Given the description of an element on the screen output the (x, y) to click on. 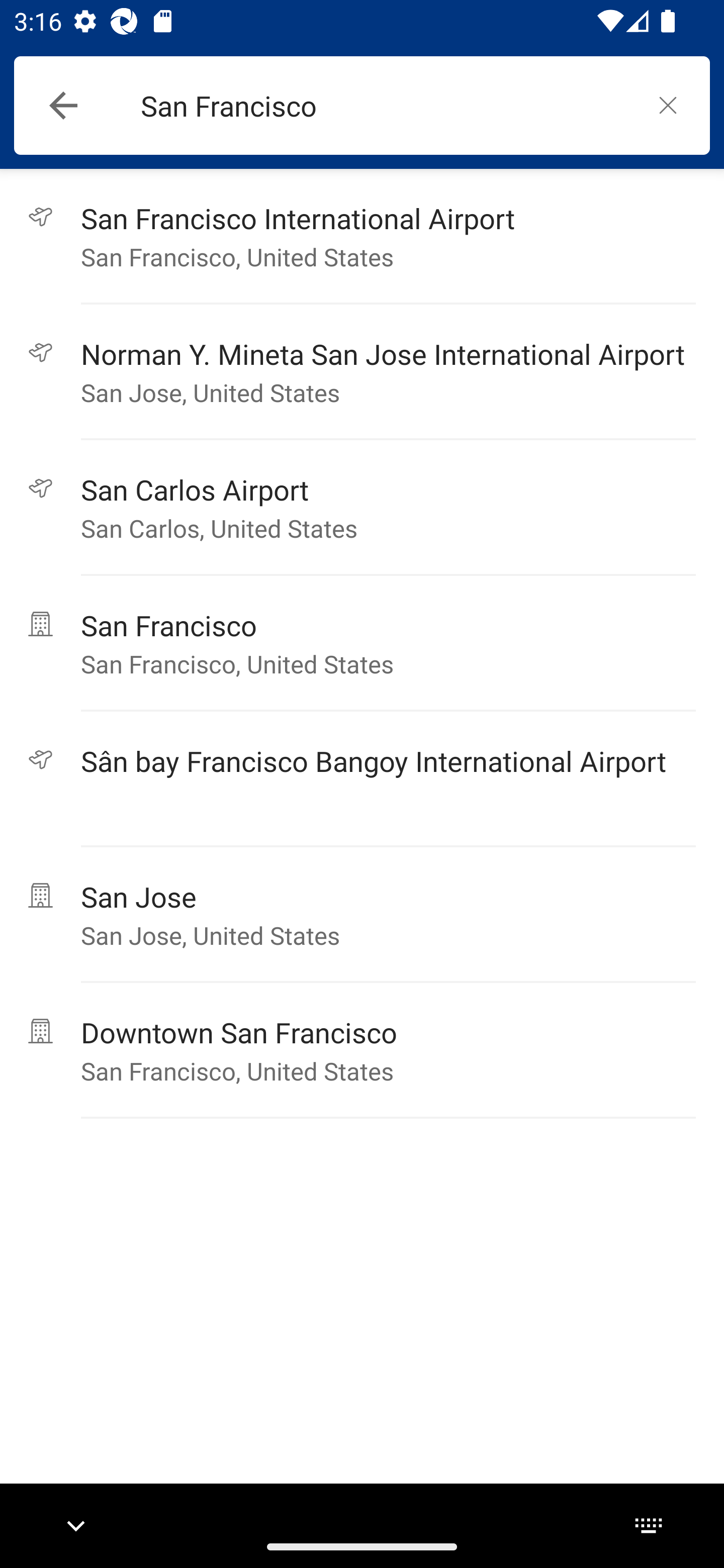
Navigate up (62, 105)
놕 (667, 104)
San Francisco (382, 105)
끭 San Carlos Airport San Carlos, United States (362, 507)
넭 San Francisco San Francisco, United States (362, 643)
끭 Sân bay Francisco Bangoy International Airport (362, 778)
넭 San Jose San Jose, United States (362, 914)
